Given the description of an element on the screen output the (x, y) to click on. 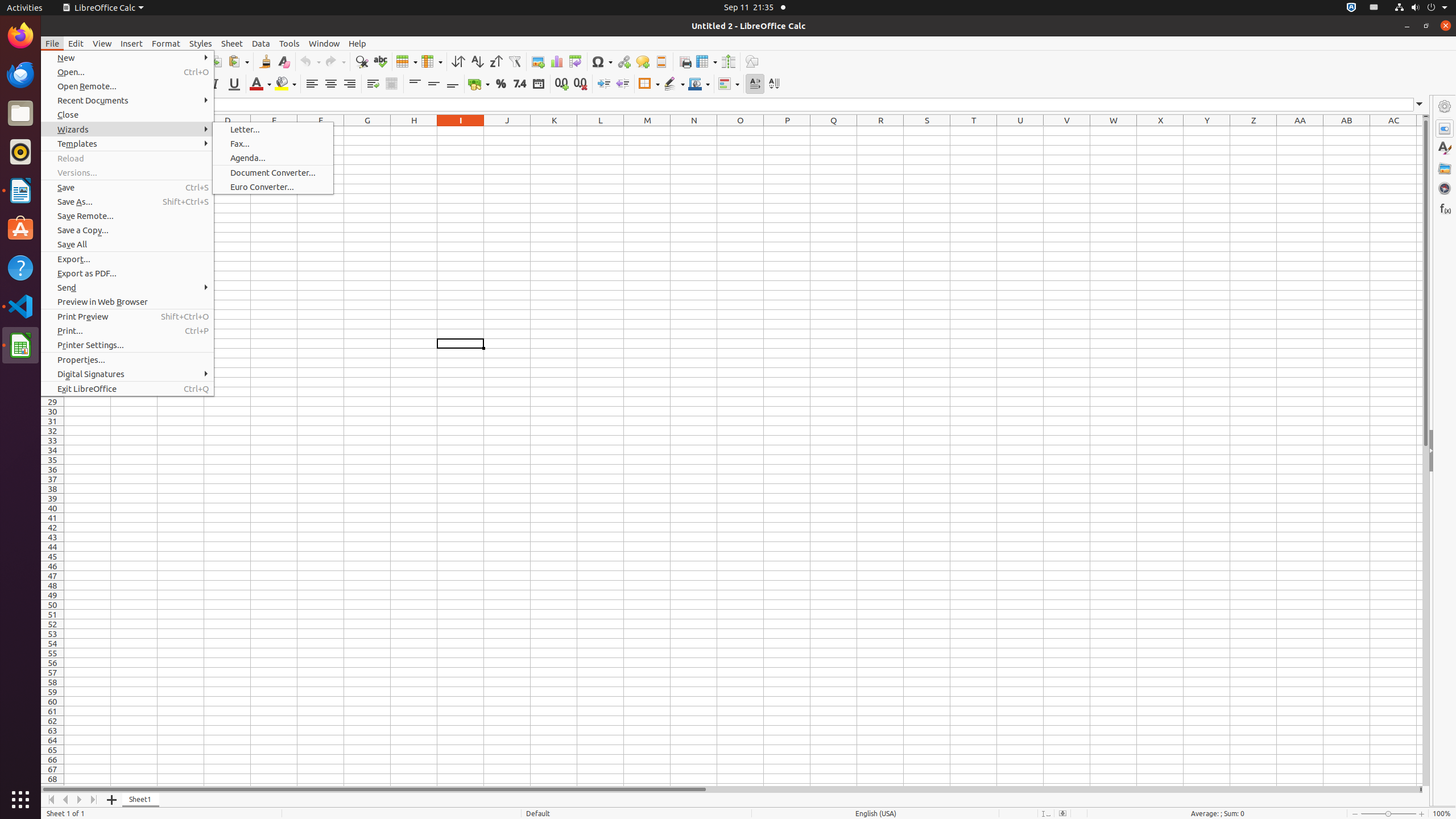
Gallery Element type: radio-button (1444, 168)
Comment Element type: push-button (642, 61)
Properties Element type: radio-button (1444, 128)
Center Vertically Element type: push-button (433, 83)
Align Right Element type: push-button (349, 83)
